Given the description of an element on the screen output the (x, y) to click on. 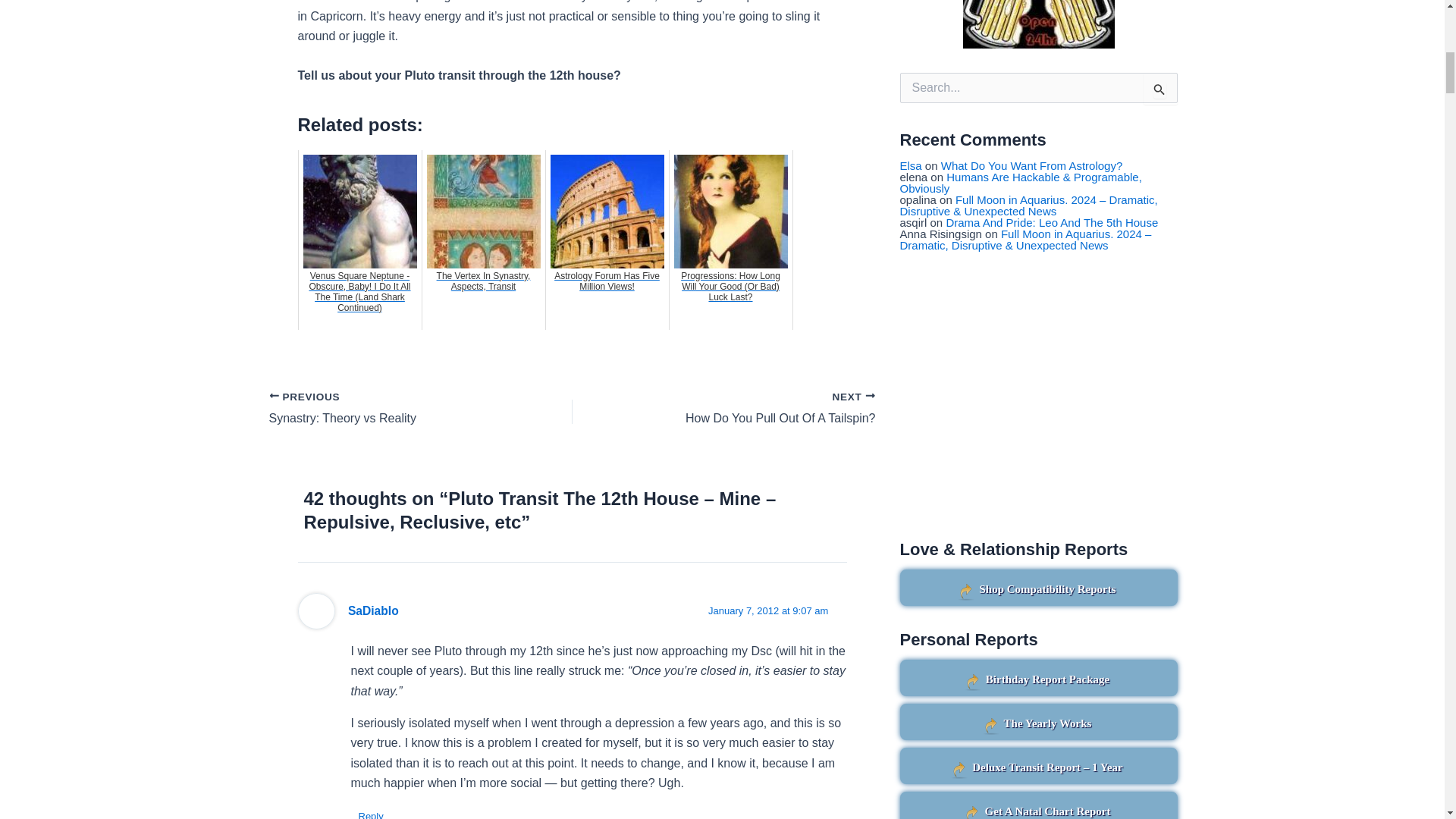
Search (1159, 88)
Search (1159, 88)
How Do You Pull Out Of A Tailspin? (753, 409)
Synastry: Theory vs Reality (389, 409)
